Given the description of an element on the screen output the (x, y) to click on. 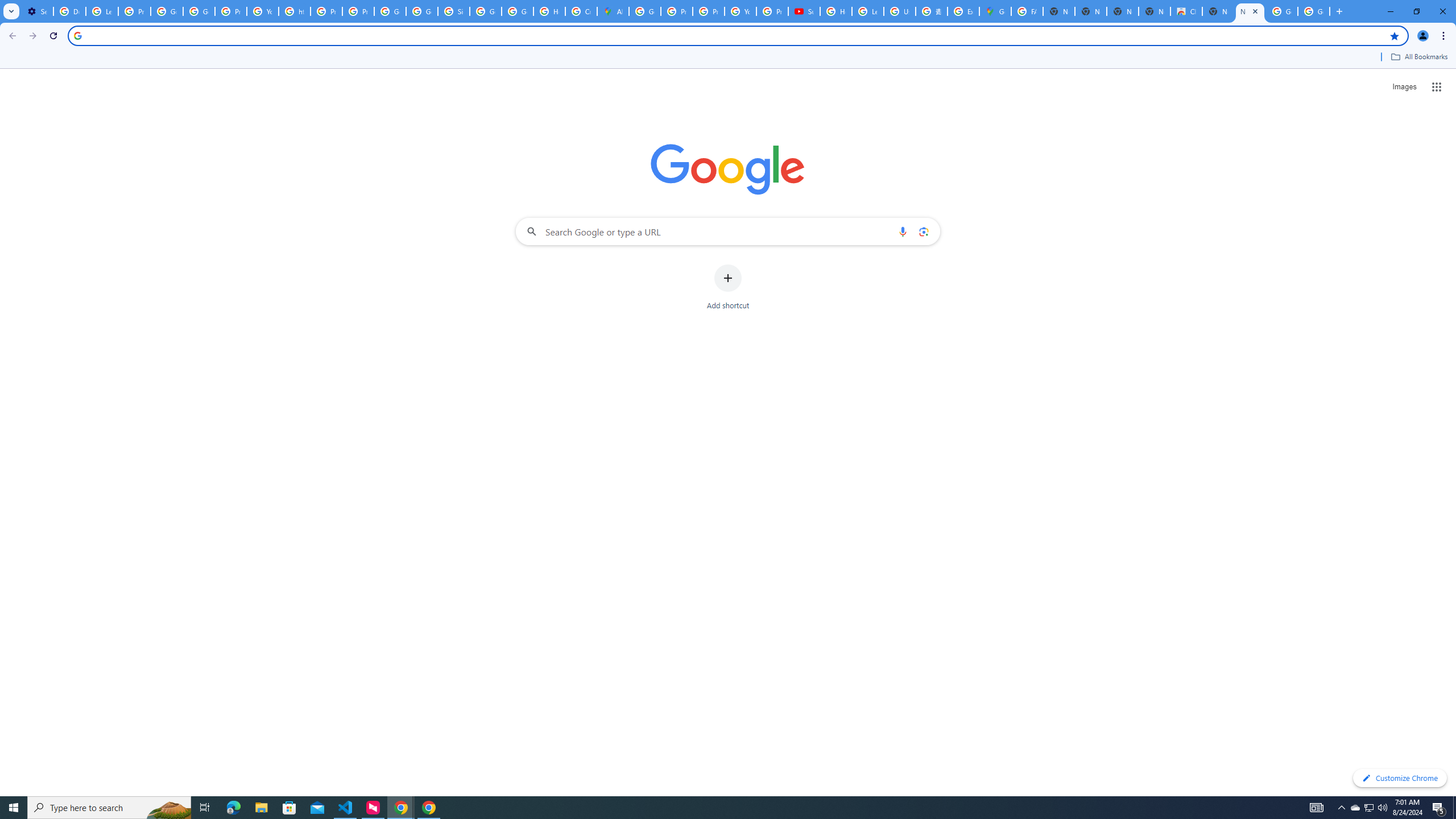
Privacy Help Center - Policies Help (676, 11)
Explore new street-level details - Google Maps Help (963, 11)
Privacy Help Center - Policies Help (326, 11)
YouTube (262, 11)
